Given the description of an element on the screen output the (x, y) to click on. 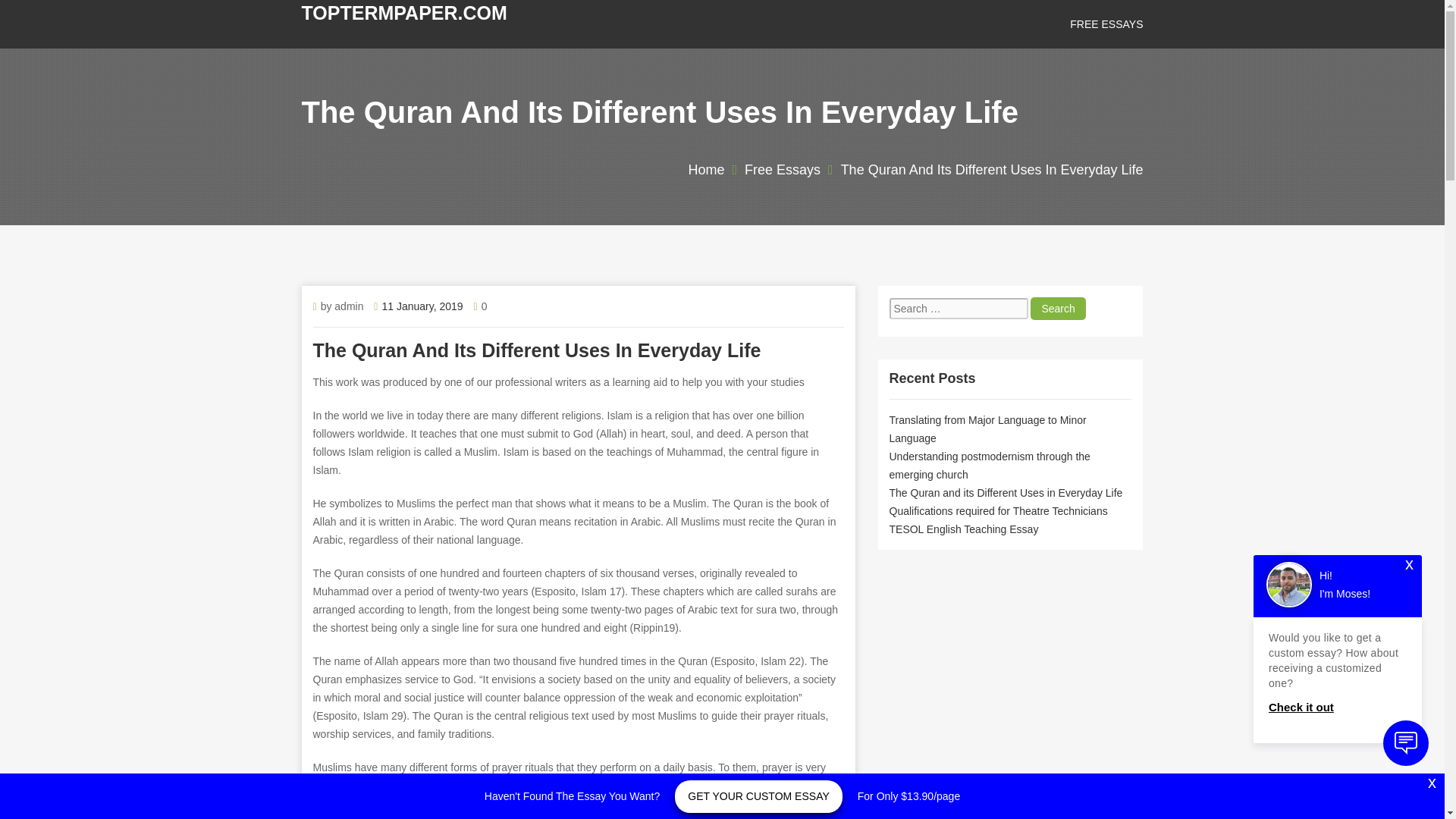
GET YOUR CUSTOM ESSAY (758, 795)
Search (1057, 308)
0 (484, 306)
Free Essays (782, 169)
Free Essays (1106, 24)
Translating from Major Language to Minor Language (987, 429)
FREE ESSAYS (1106, 24)
Search (1057, 308)
Understanding postmodernism through the emerging church (988, 465)
The Quran And Its Different Uses In Everyday Life (991, 169)
Qualifications required for Theatre Technicians (997, 510)
The Quran and its Different Uses in Everyday Life (1005, 492)
by (327, 306)
Home (705, 169)
admin (348, 306)
